Given the description of an element on the screen output the (x, y) to click on. 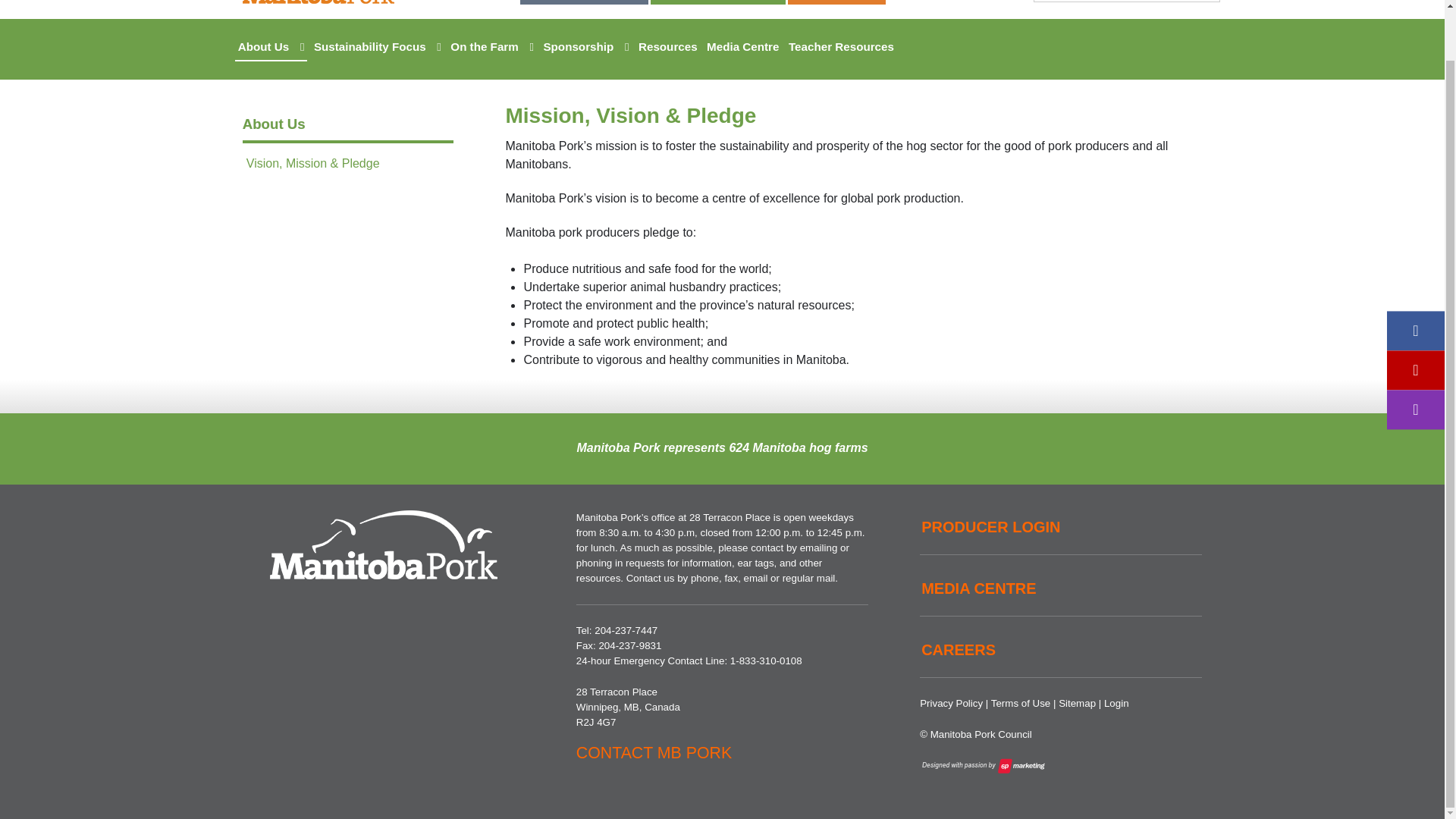
6P Marketing (984, 765)
Media Centre (742, 46)
Resources (667, 46)
Community (718, 2)
Producers (583, 2)
Teacher Resources (841, 46)
Food (836, 2)
